Given the description of an element on the screen output the (x, y) to click on. 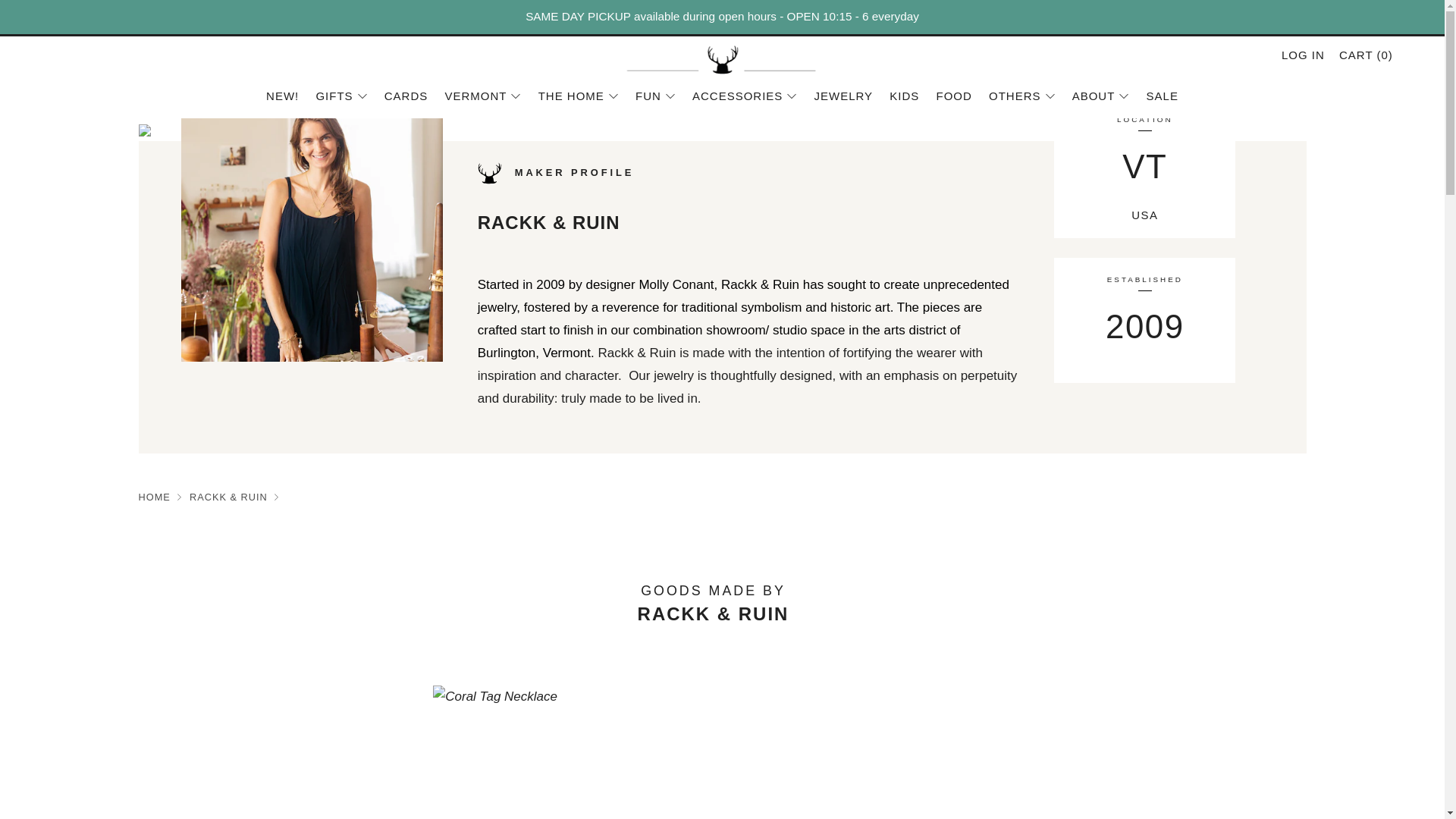
Scarab Pendant Necklace - STERLING SILVER (280, 752)
Coral Tag Necklace (574, 752)
Libertad Coin Necklace Gold Vermeil (1164, 752)
Home (154, 496)
